Given the description of an element on the screen output the (x, y) to click on. 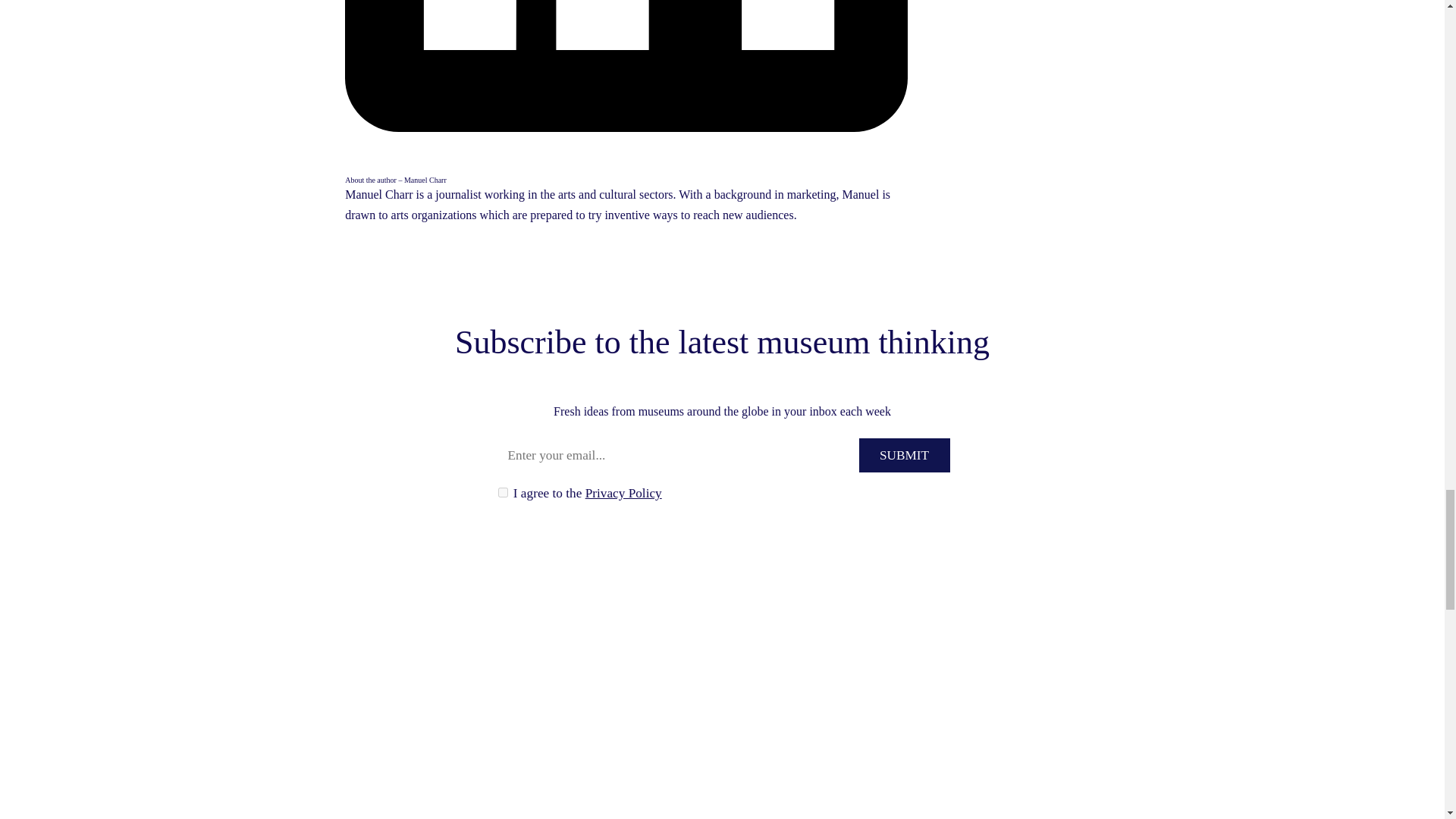
Privacy Policy (623, 493)
1 (501, 492)
Submit (904, 455)
Submit (904, 455)
